Given the description of an element on the screen output the (x, y) to click on. 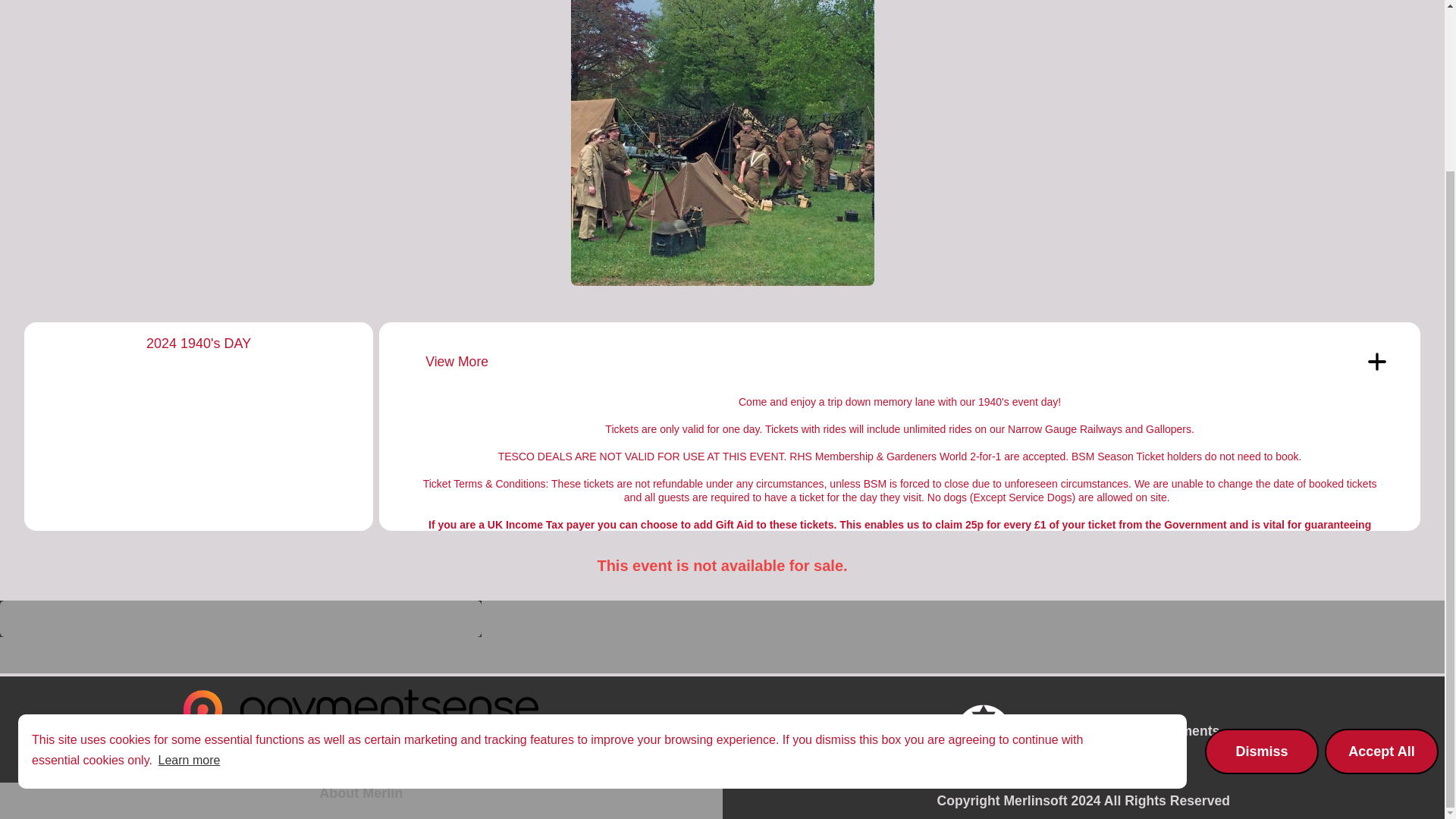
Dismiss (1262, 545)
Accept All (1381, 545)
Learn more (188, 554)
